Given the description of an element on the screen output the (x, y) to click on. 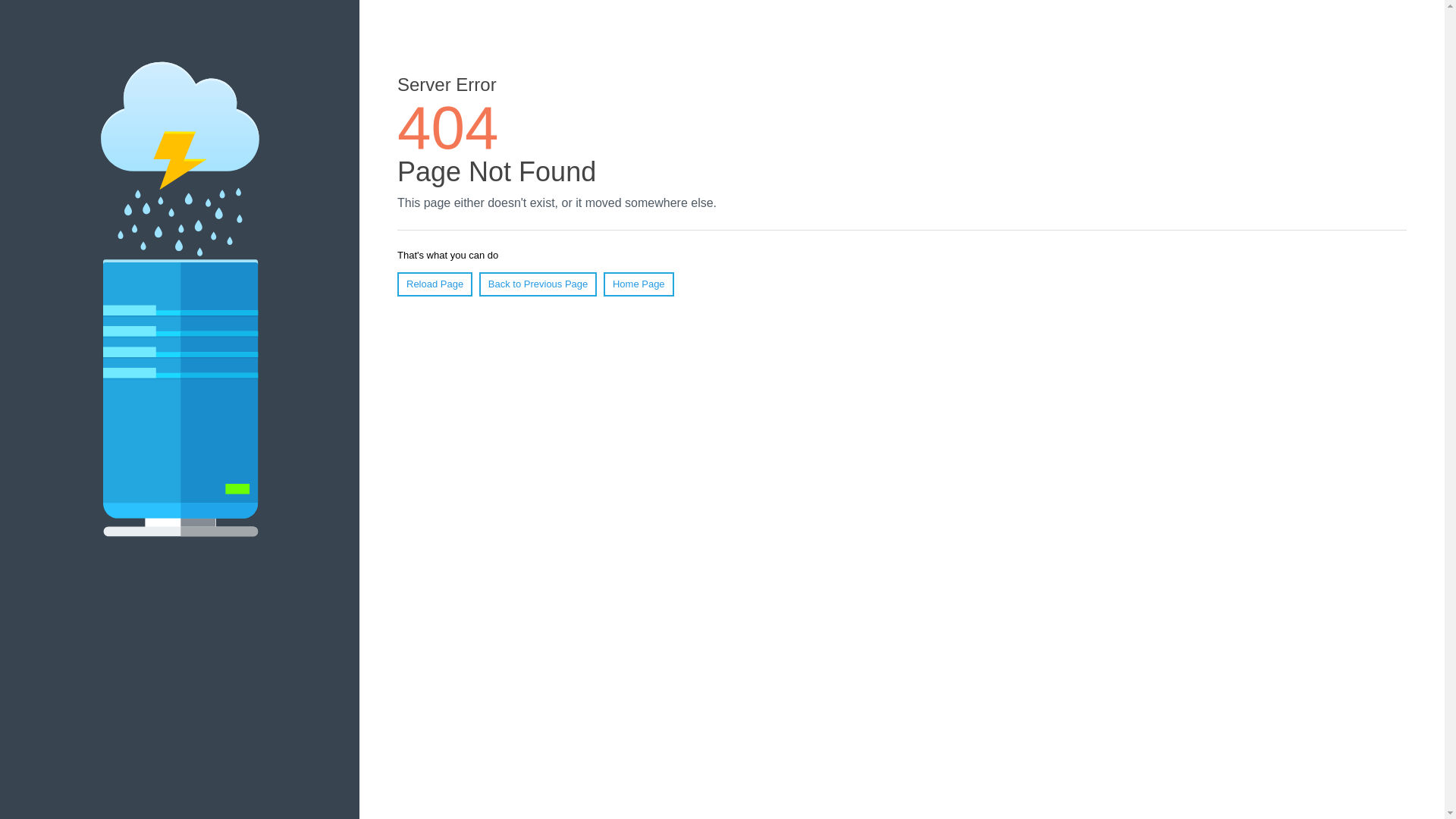
Back to Previous Page Element type: text (538, 284)
Home Page Element type: text (638, 284)
Reload Page Element type: text (434, 284)
